Given the description of an element on the screen output the (x, y) to click on. 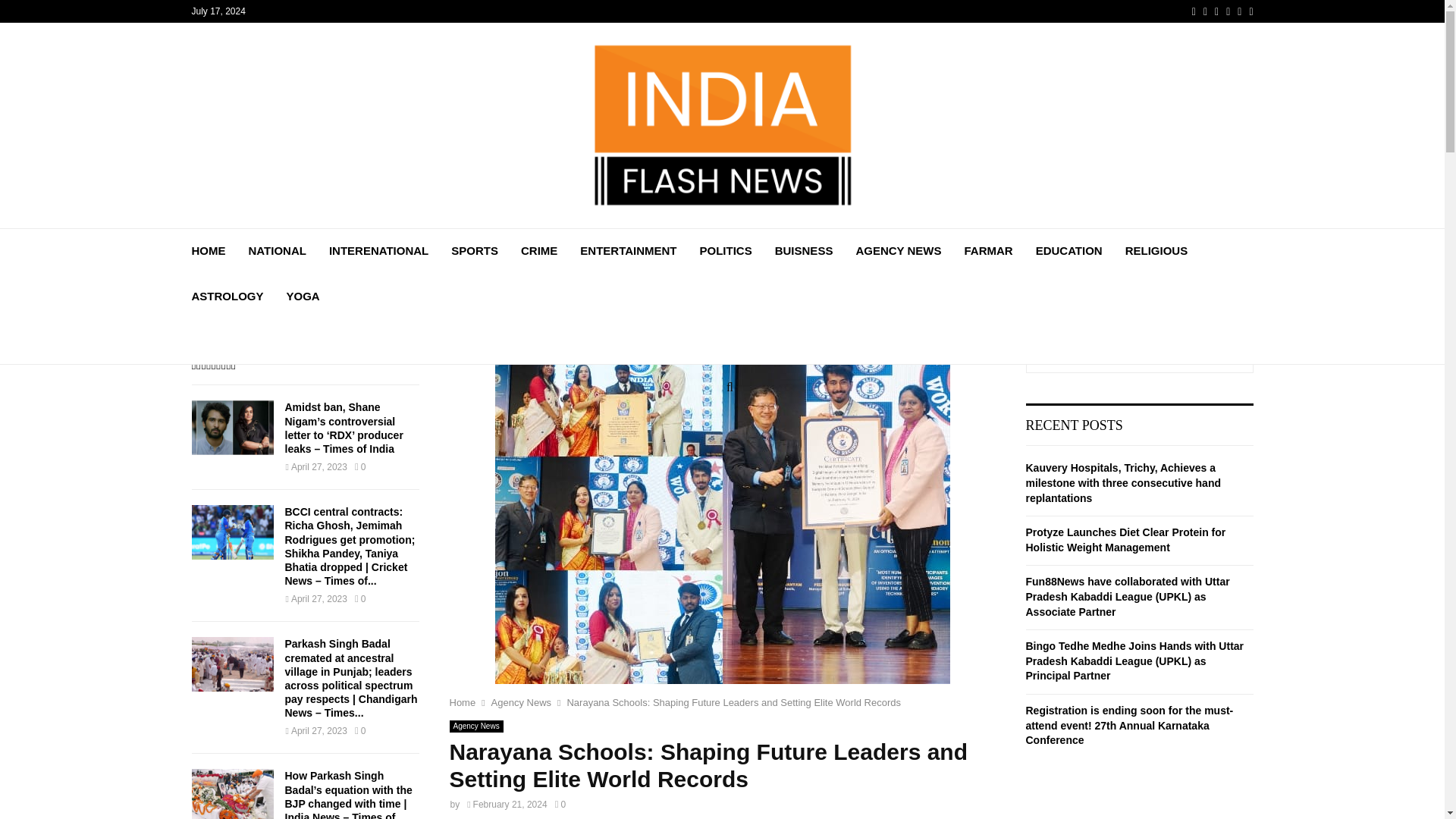
ASTROLOGY (226, 296)
AGENCY NEWS (898, 250)
Twitter (1205, 11)
EDUCATION (1068, 250)
Whatsapp (1250, 11)
BUISNESS (803, 250)
ENTERTAINMENT (628, 250)
RELIGIOUS (1156, 250)
NATIONAL (276, 250)
HOME (207, 250)
SPORTS (474, 250)
Instagram (1216, 11)
Email (1239, 11)
INTERENATIONAL (378, 250)
